Given the description of an element on the screen output the (x, y) to click on. 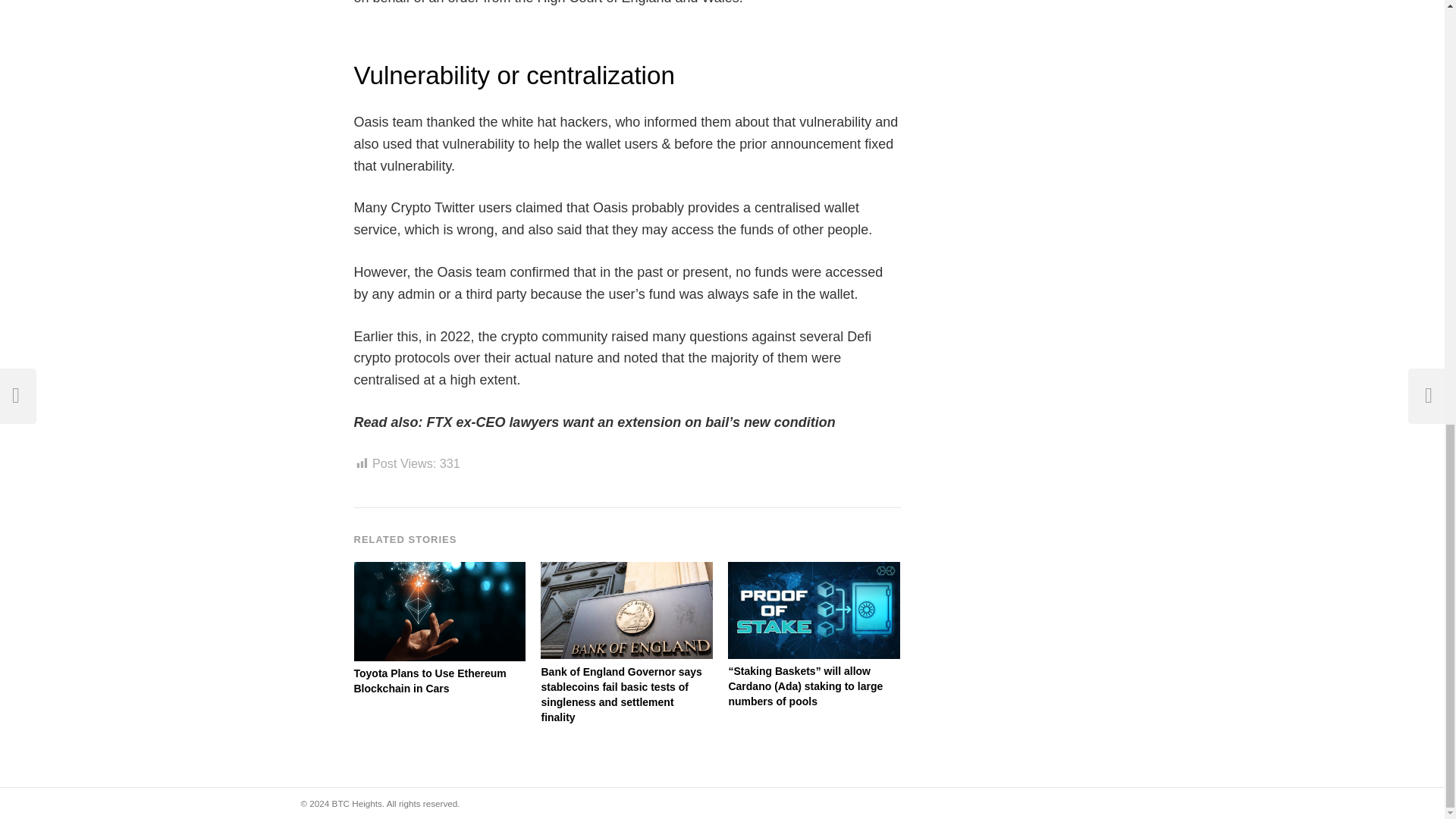
Toyota Plans to Use Ethereum Blockchain in Cars (439, 570)
Toyota Plans to Use Ethereum Blockchain in Cars (439, 681)
Toyota Plans to Use Ethereum Blockchain in Cars (439, 681)
